Given the description of an element on the screen output the (x, y) to click on. 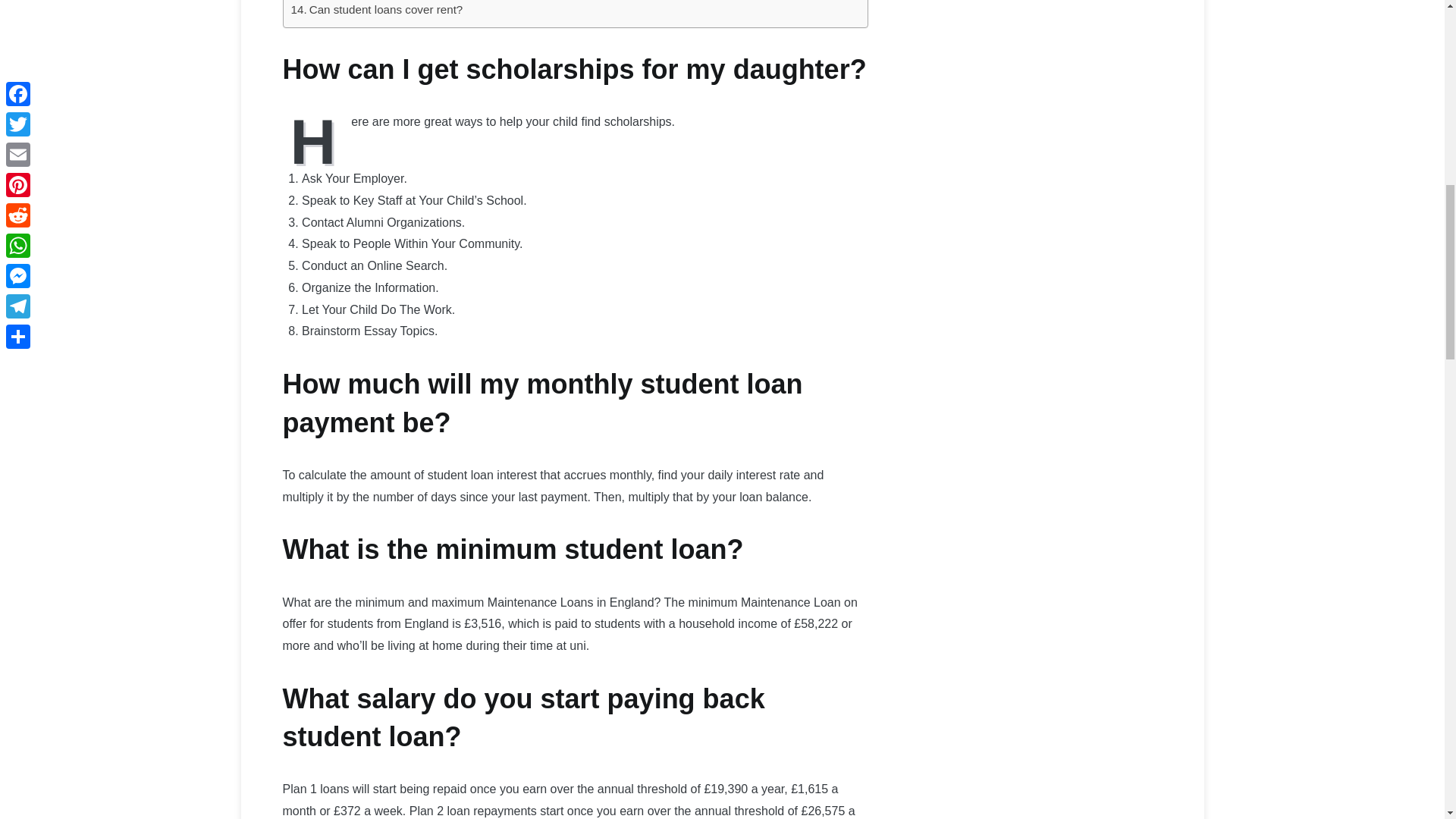
Can student loans cover rent? (377, 9)
Can student loans cover rent? (377, 9)
H (316, 139)
